Given the description of an element on the screen output the (x, y) to click on. 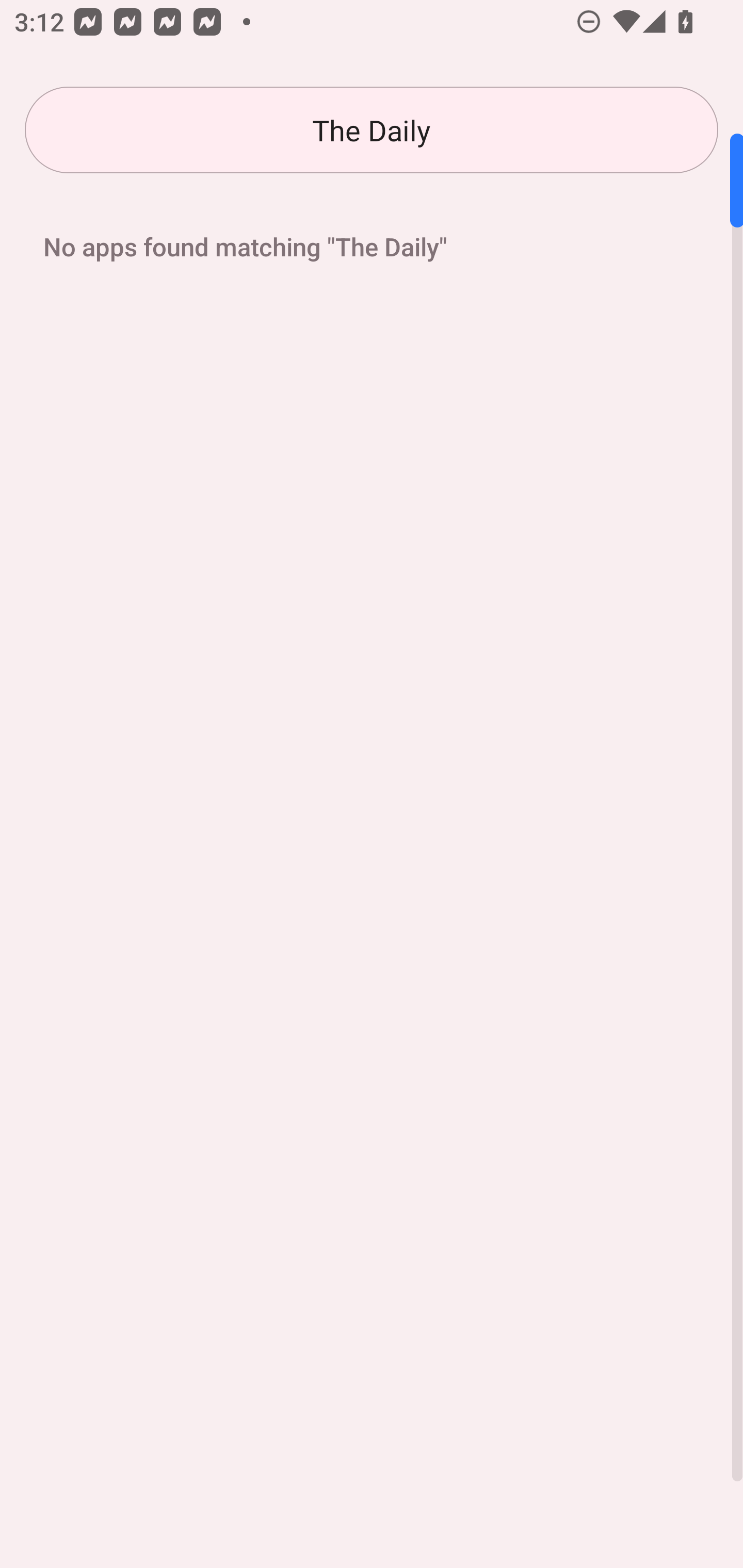
The Daily (371, 130)
